Given the description of an element on the screen output the (x, y) to click on. 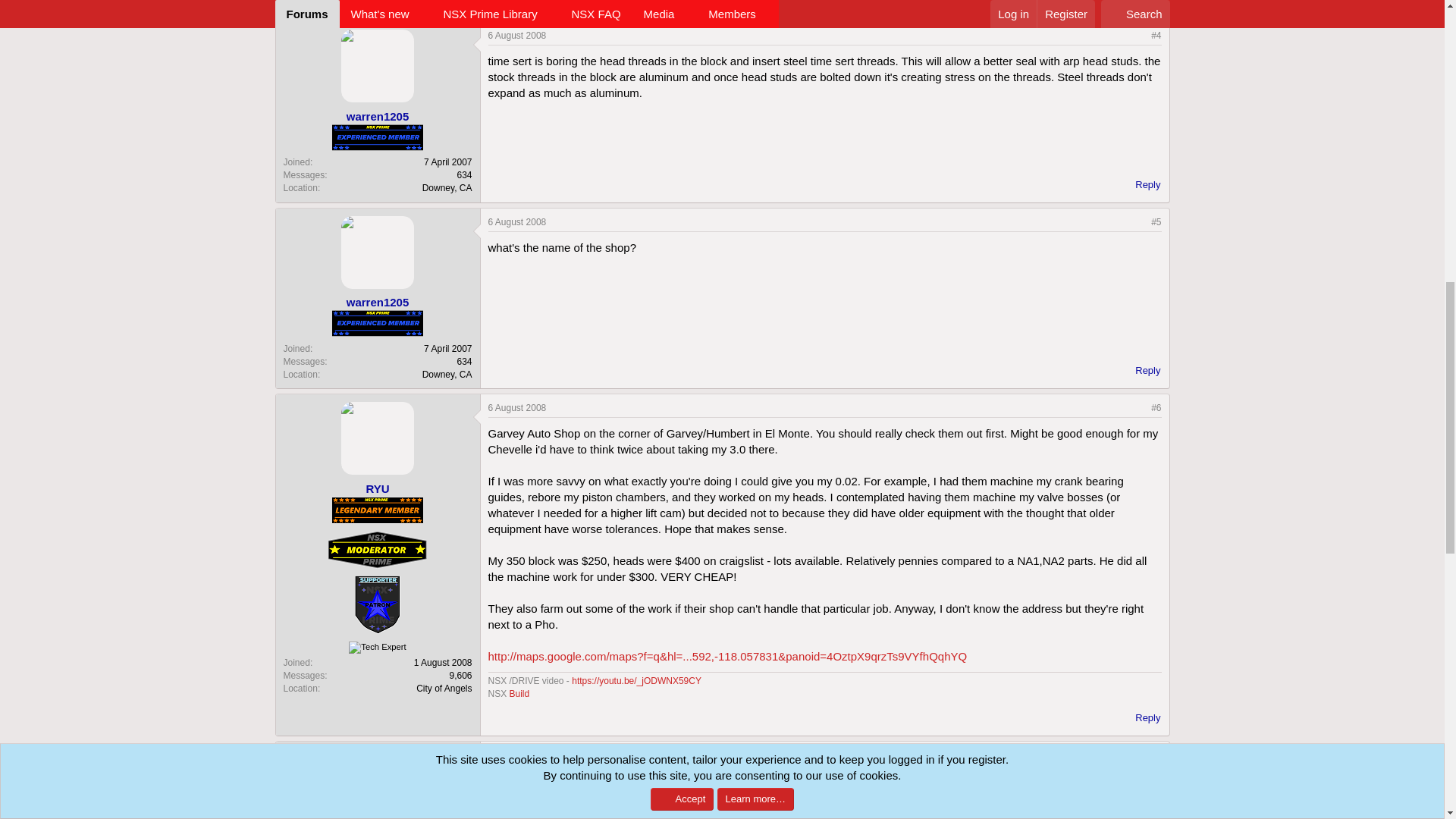
6 August 2008 at 9:40 PM (517, 222)
Reply, quoting this message (1141, 4)
11 August 2008 at 4:57 AM (519, 755)
6 August 2008 at 9:39 PM (517, 35)
6 August 2008 at 10:47 PM (517, 407)
Reply, quoting this message (1141, 718)
Reply, quoting this message (1141, 370)
Reply, quoting this message (1141, 184)
